Given the description of an element on the screen output the (x, y) to click on. 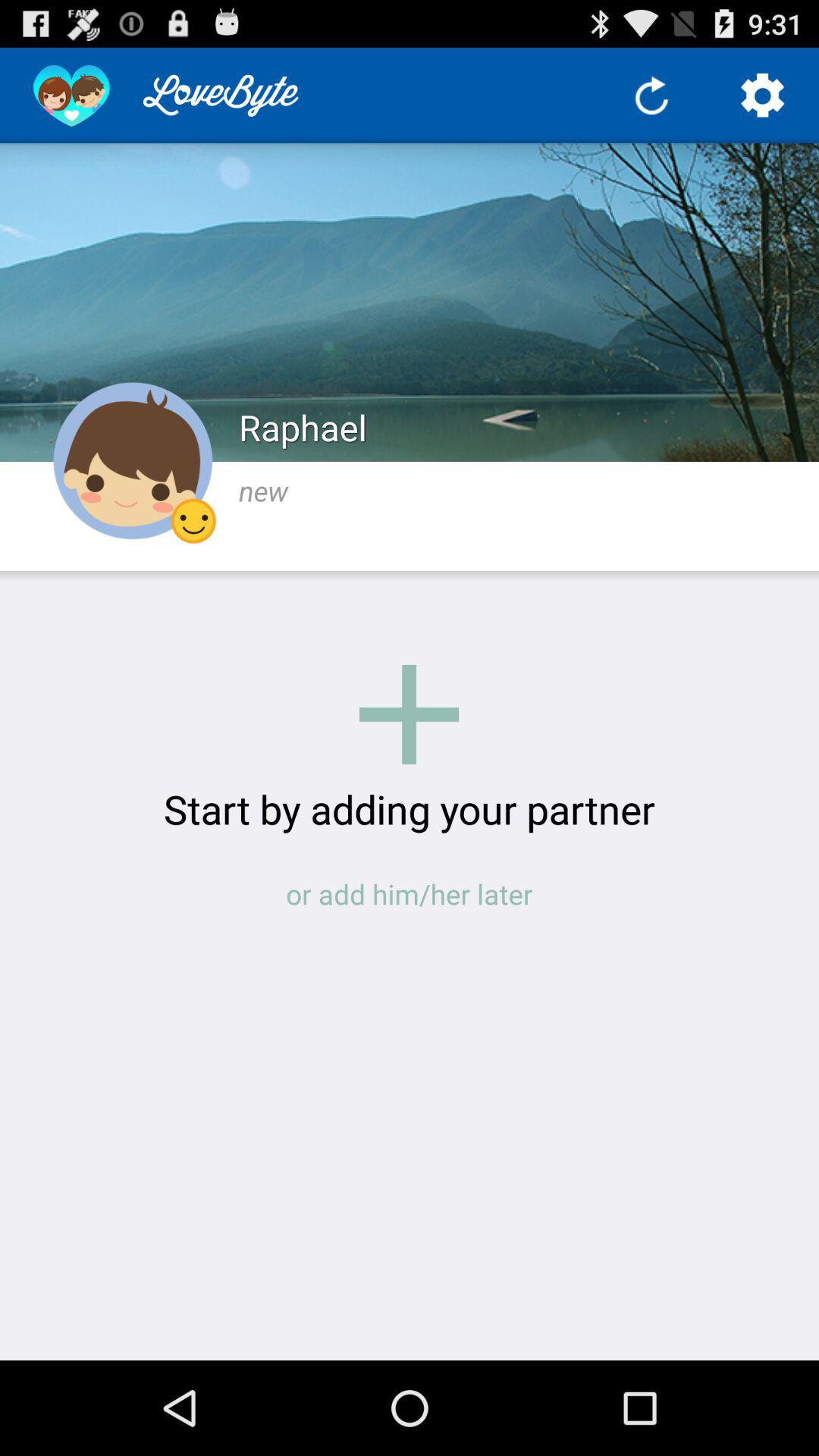
it is for going into settings (763, 95)
